Given the description of an element on the screen output the (x, y) to click on. 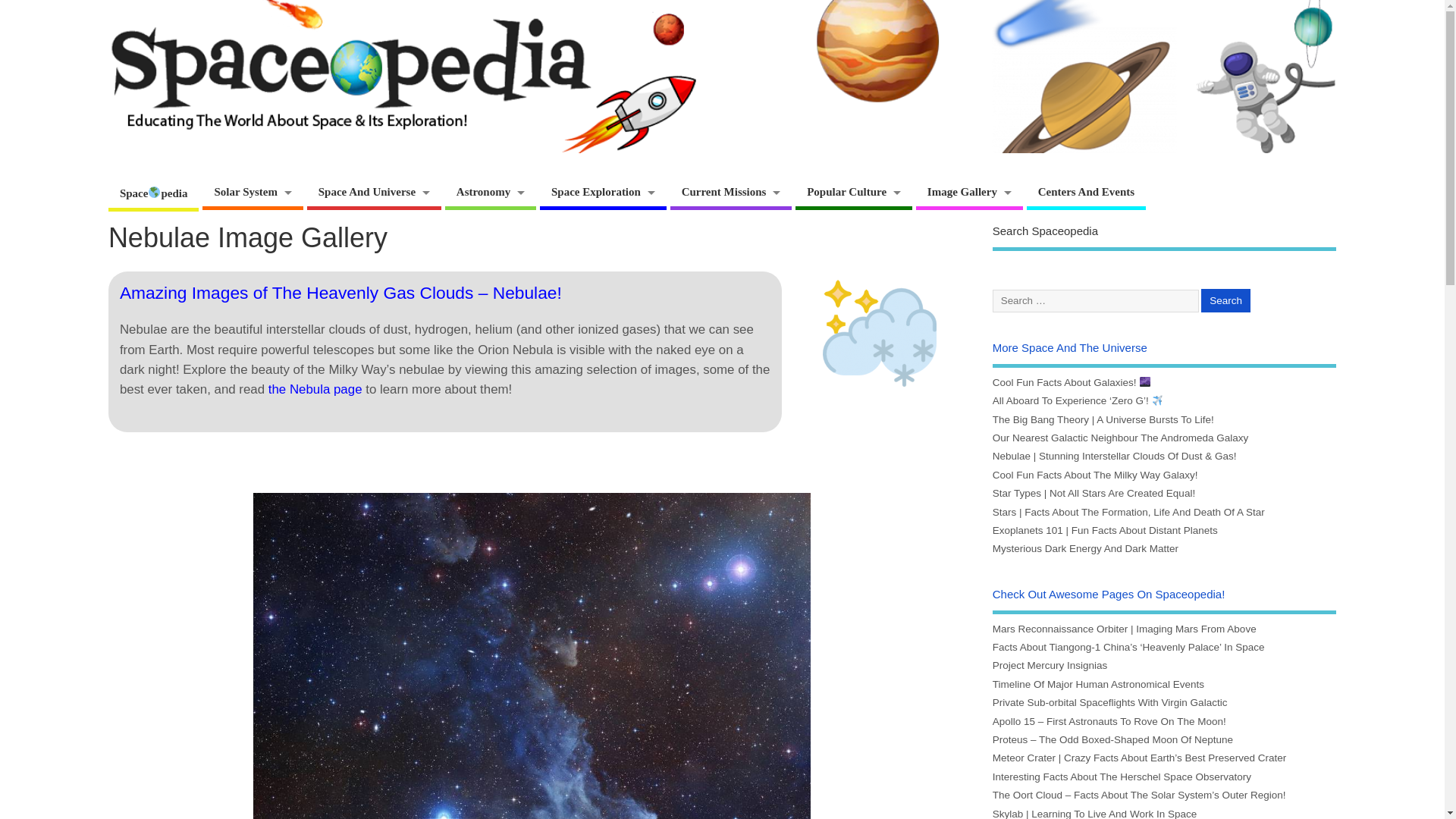
Click here to learn more! (314, 389)
Search (1225, 300)
Spacepedia (153, 194)
Search (1225, 300)
Solar System (252, 194)
